Given the description of an element on the screen output the (x, y) to click on. 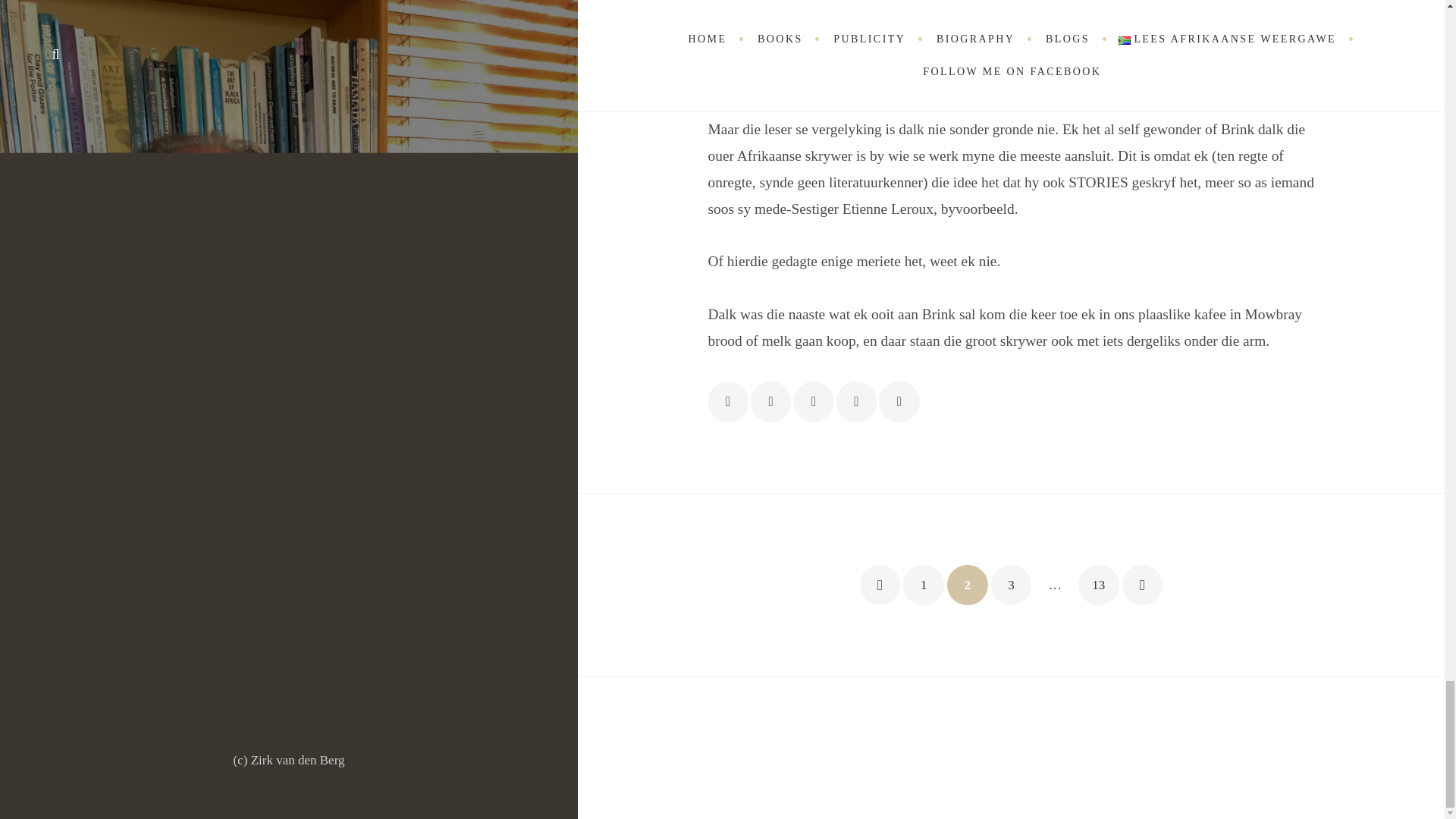
Pin It (855, 401)
Share on Facebook (727, 401)
Share on Google Plus (812, 401)
Tweet It (770, 401)
